Given the description of an element on the screen output the (x, y) to click on. 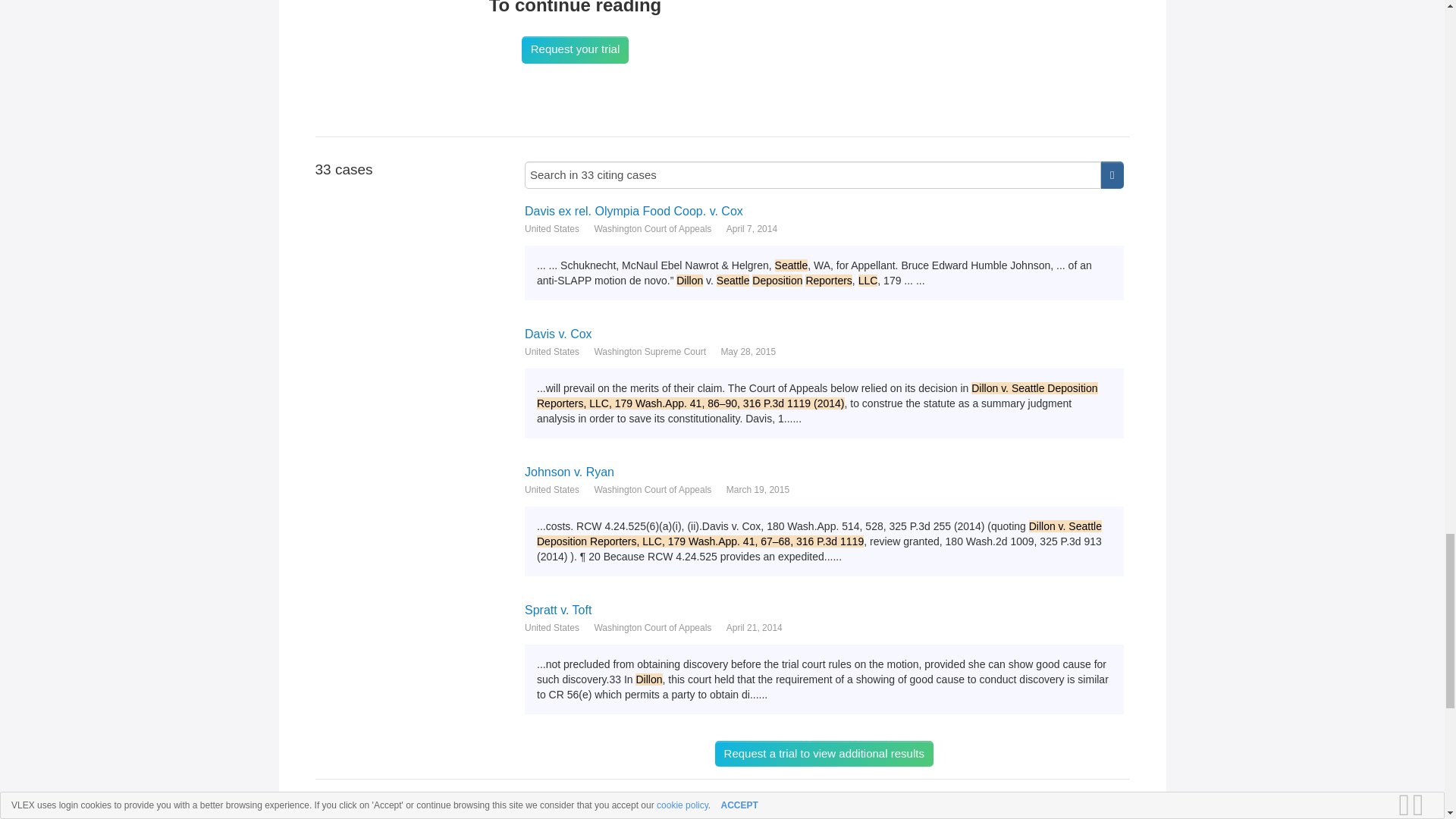
Washington Court of Appeals (652, 489)
Washington Court of Appeals (652, 627)
Davis ex rel. Olympia Food Coop. v. Cox (824, 210)
Johnson v. Ryan (824, 472)
Davis v. Cox (824, 333)
Johnson v. Ryan (824, 472)
Davis v. Cox (824, 333)
May 28, 2015 (748, 351)
United States (551, 351)
April 7, 2014 (751, 228)
